Given the description of an element on the screen output the (x, y) to click on. 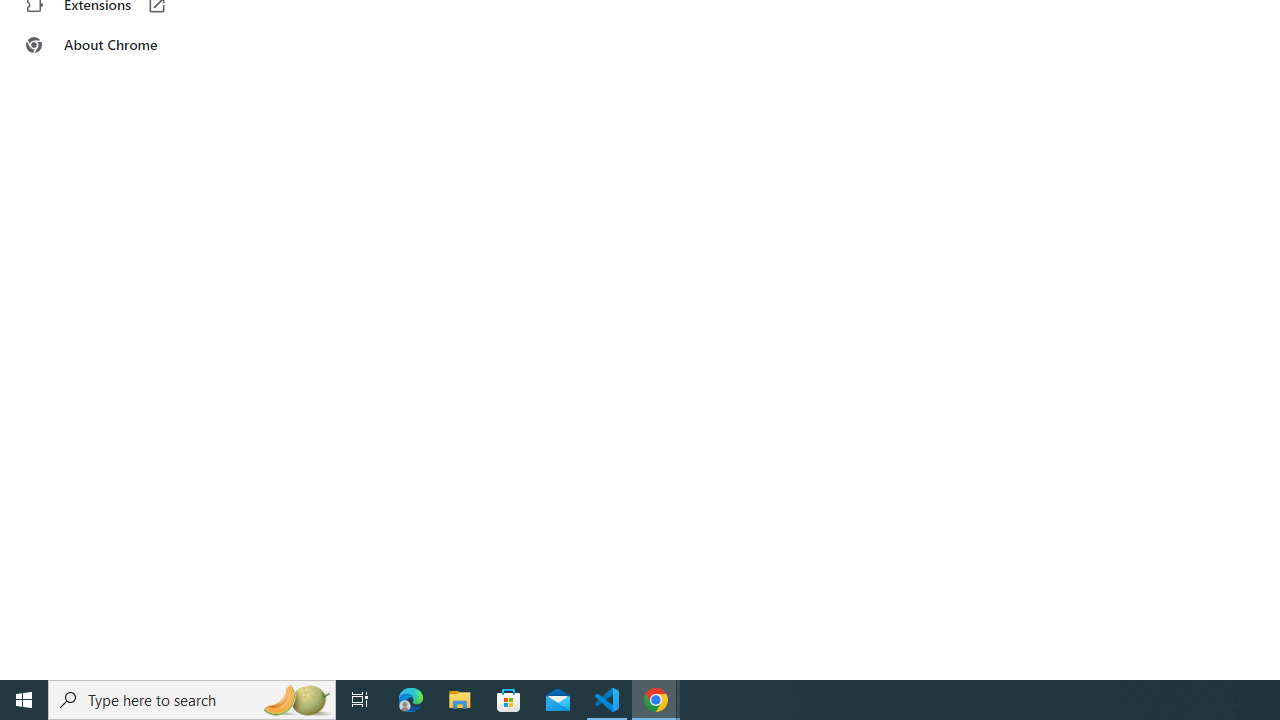
About Chrome (124, 44)
